Given the description of an element on the screen output the (x, y) to click on. 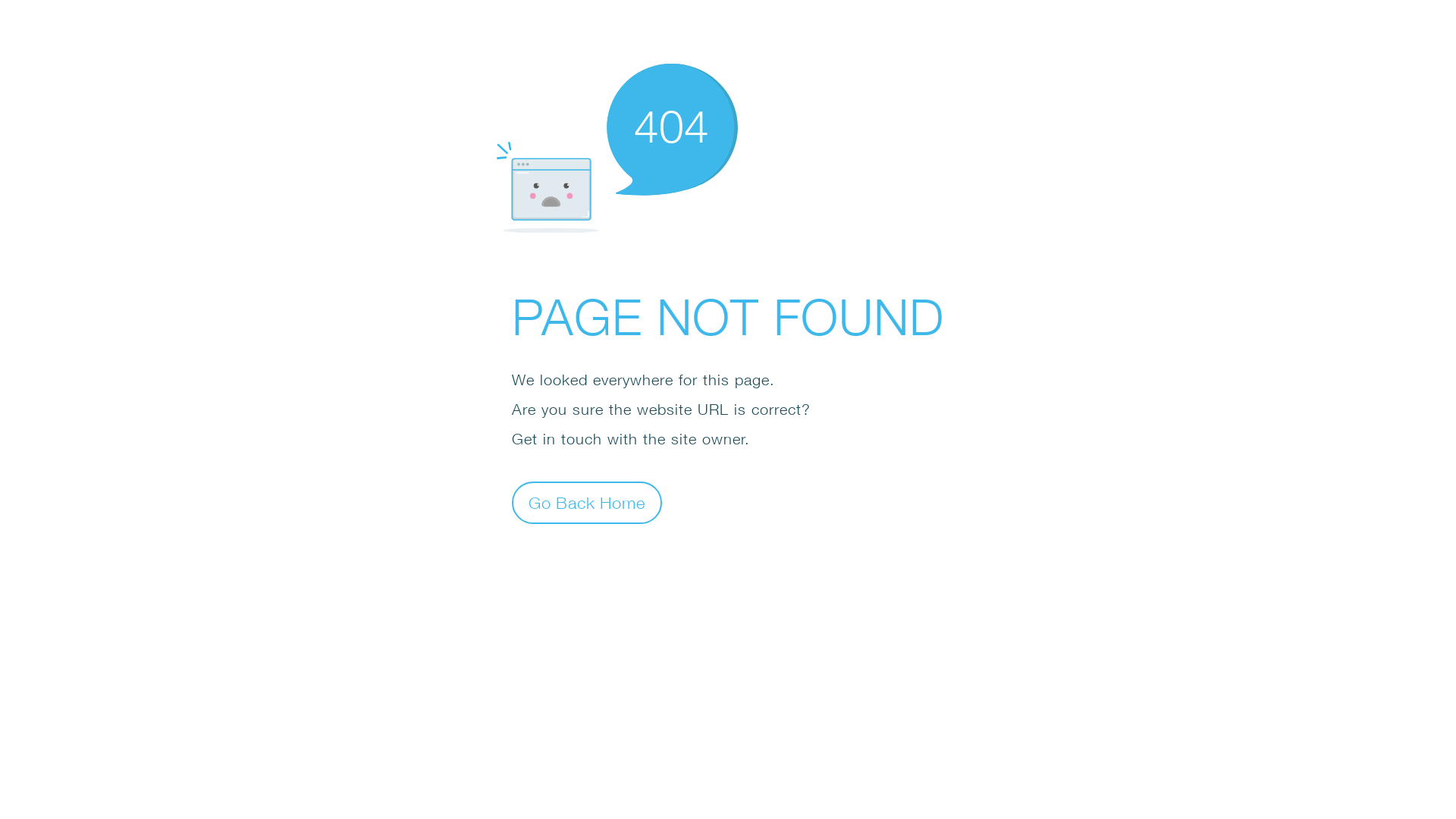
Go Back Home Element type: text (586, 502)
